Given the description of an element on the screen output the (x, y) to click on. 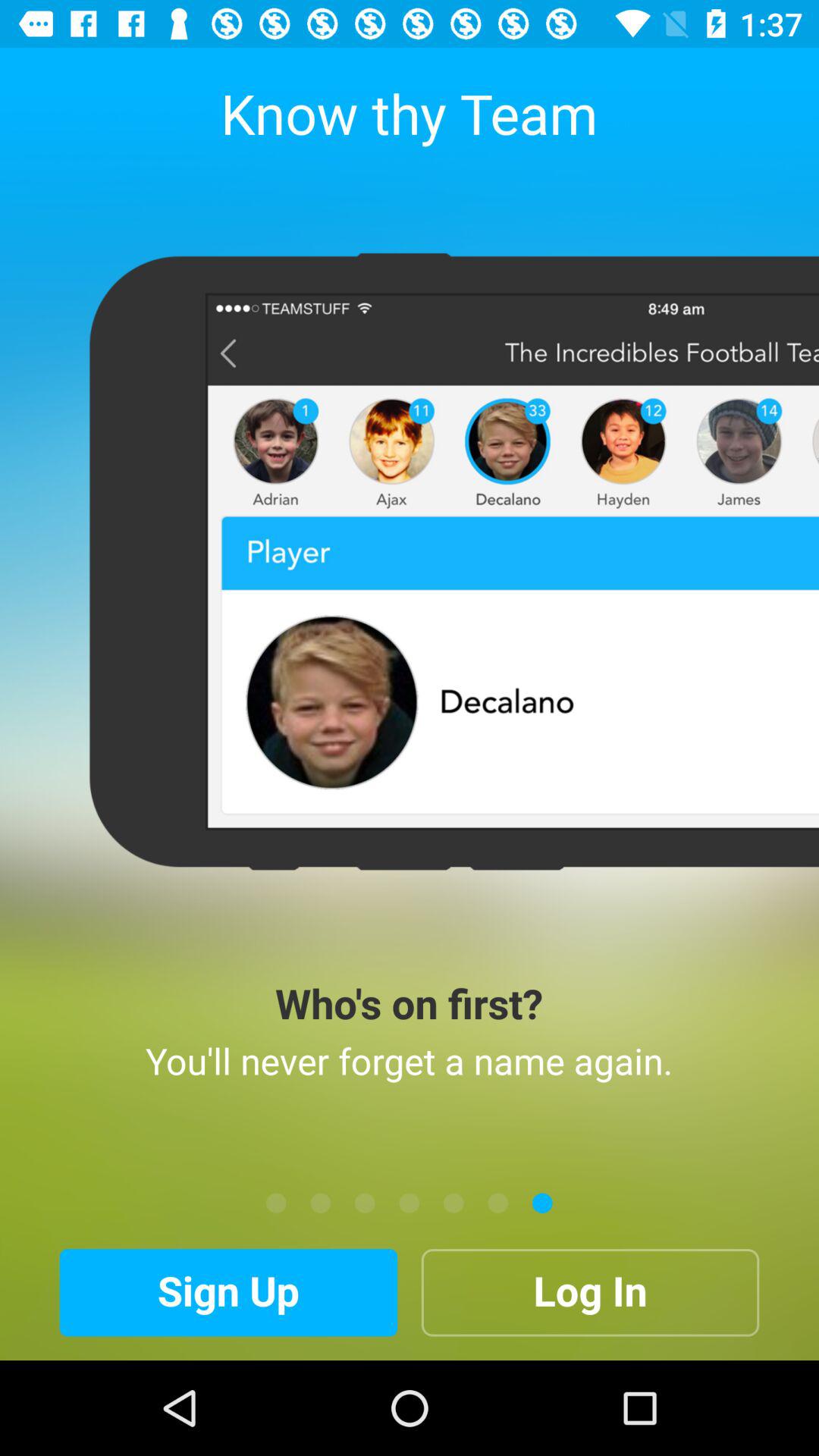
launch icon to the right of the sign up icon (590, 1292)
